Given the description of an element on the screen output the (x, y) to click on. 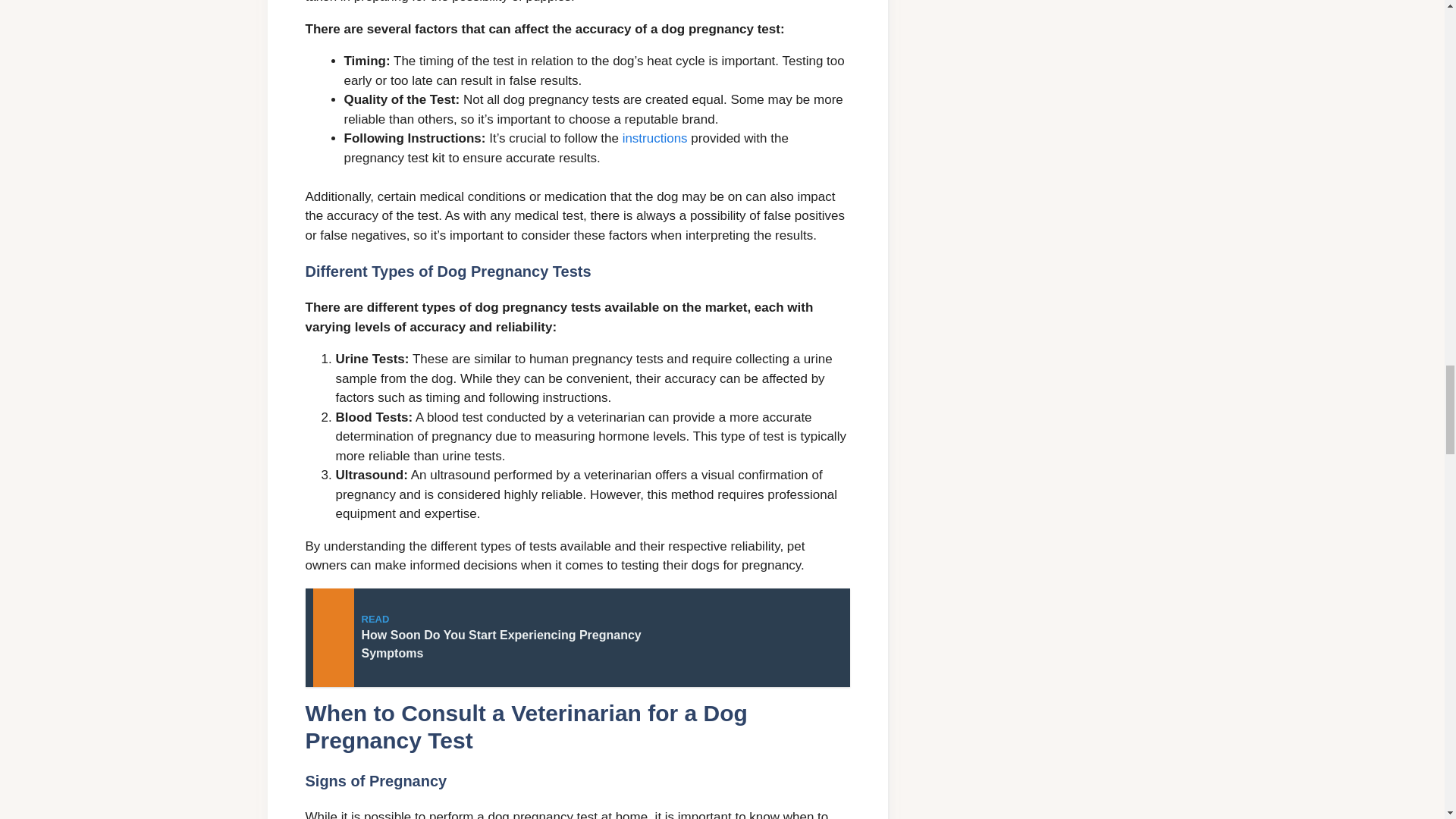
instructions (655, 138)
